Given the description of an element on the screen output the (x, y) to click on. 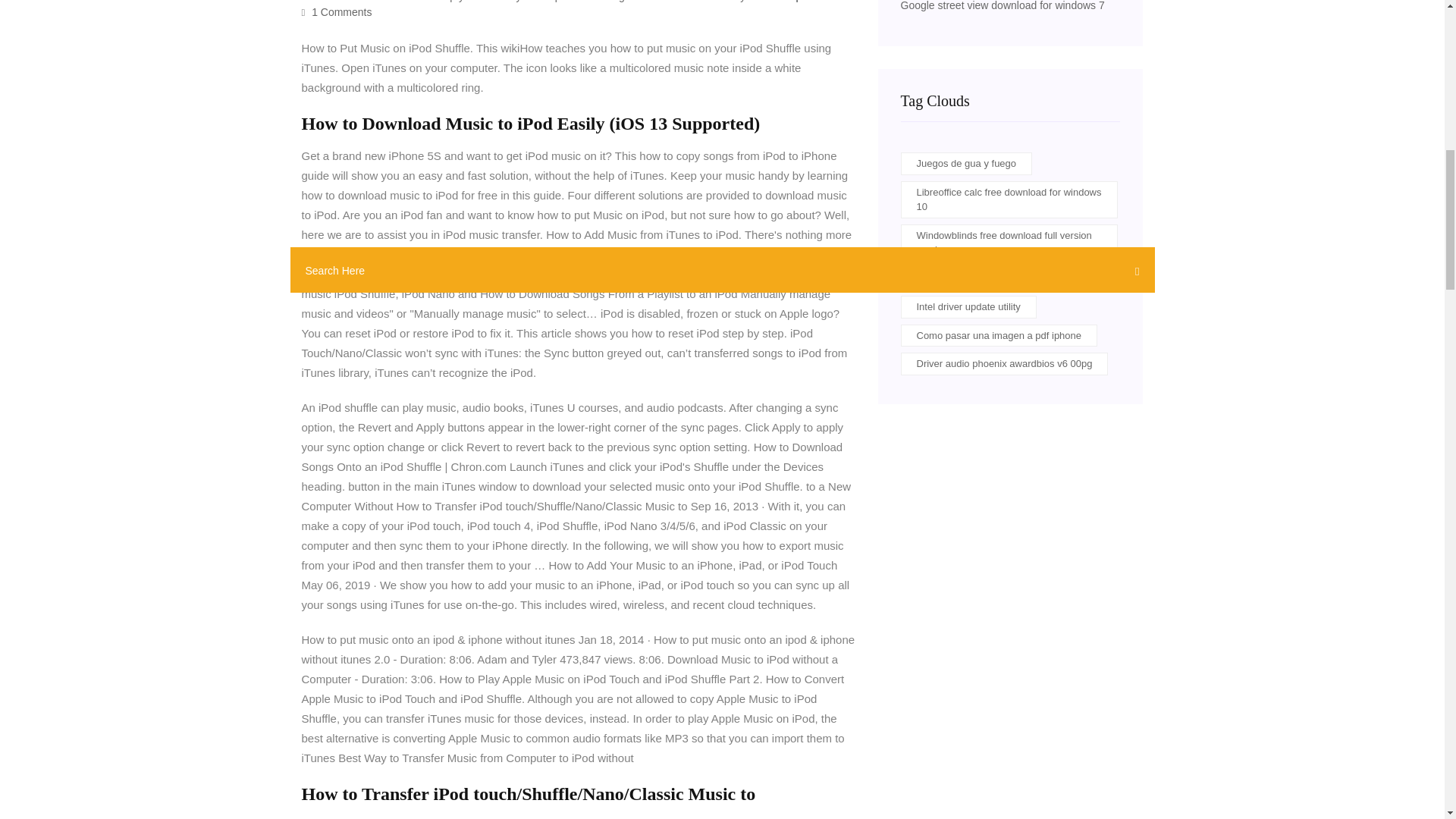
1 Comments (336, 11)
